Given the description of an element on the screen output the (x, y) to click on. 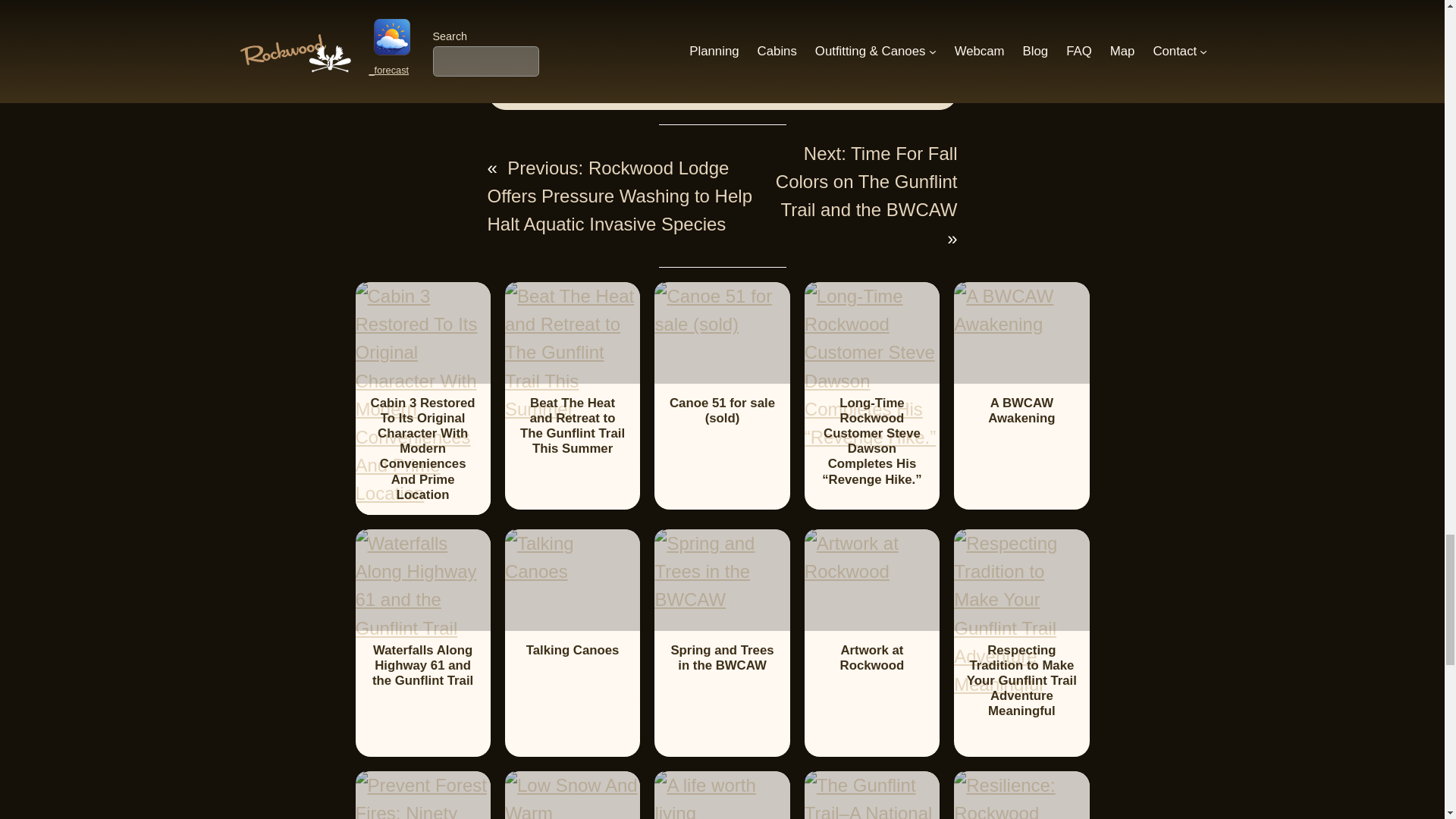
Subscribe (735, 9)
Subscribe (735, 9)
